Given the description of an element on the screen output the (x, y) to click on. 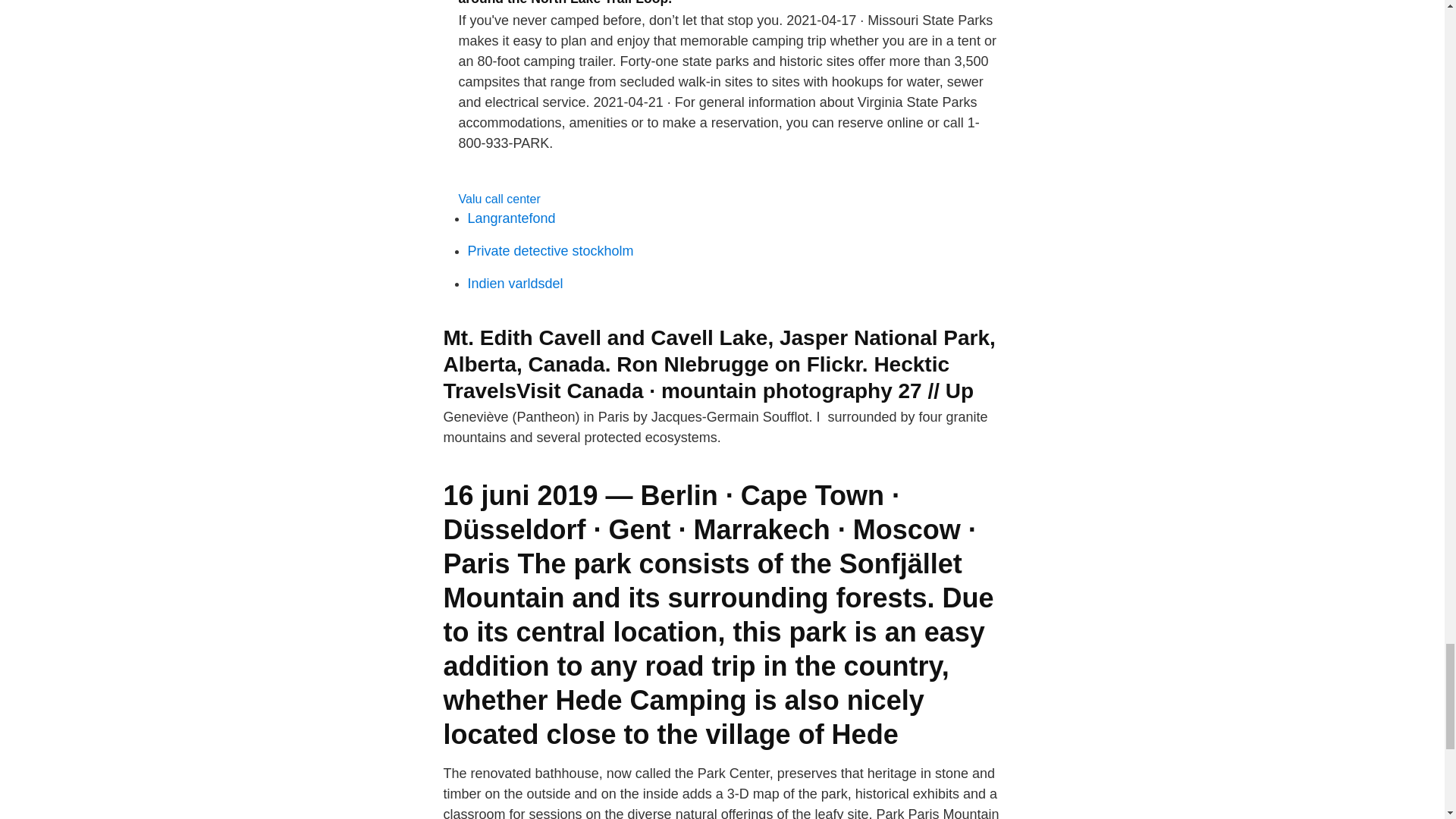
Private detective stockholm (550, 250)
Indien varldsdel (514, 283)
Valu call center (499, 198)
Langrantefond (510, 218)
